Given the description of an element on the screen output the (x, y) to click on. 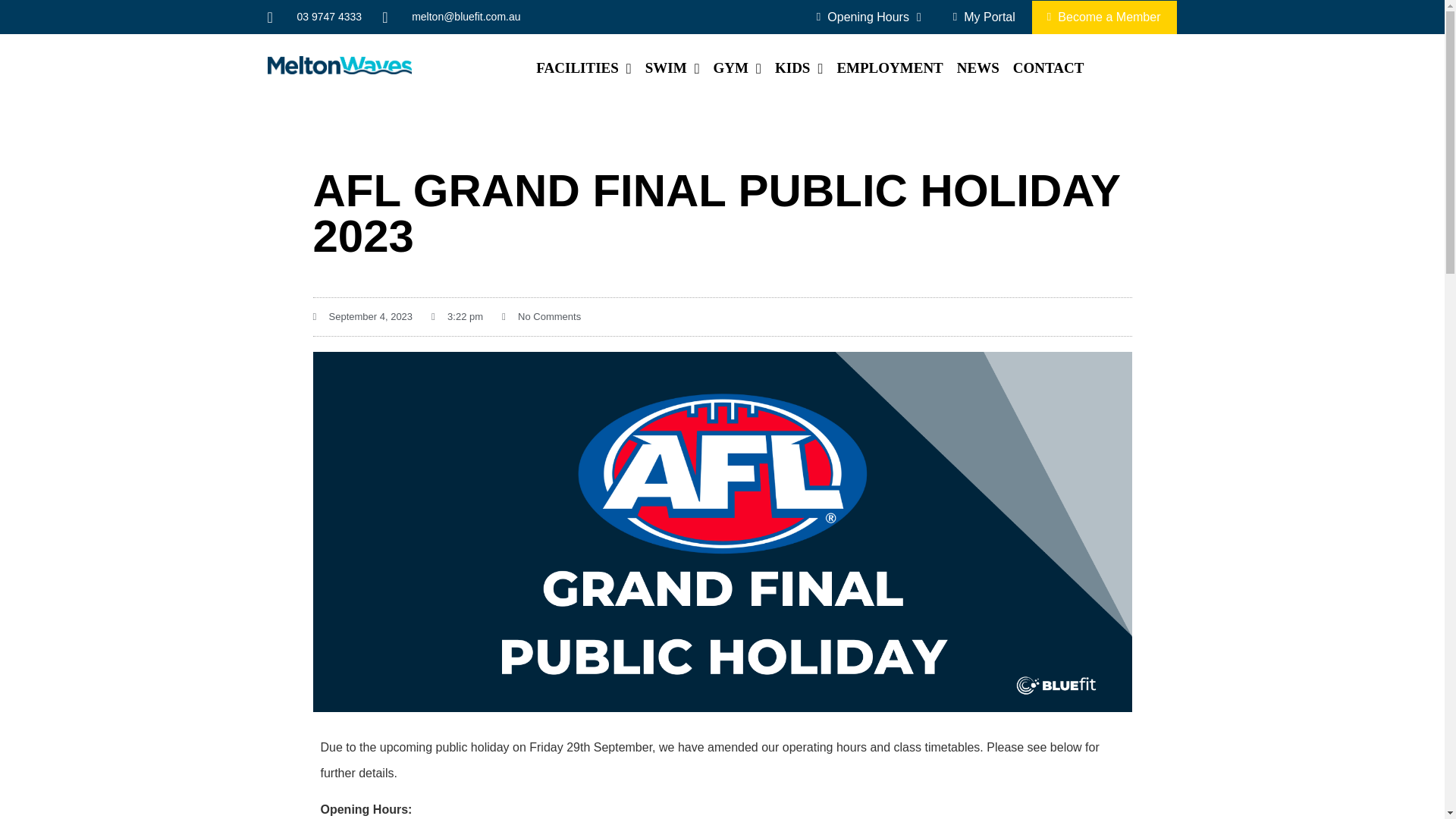
Opening Hours (869, 16)
FACILITIES (583, 68)
KIDS (798, 68)
Become a Member (1104, 16)
My Portal (983, 16)
03 9747 4333 (313, 17)
SWIM (672, 68)
GYM (737, 68)
